Given the description of an element on the screen output the (x, y) to click on. 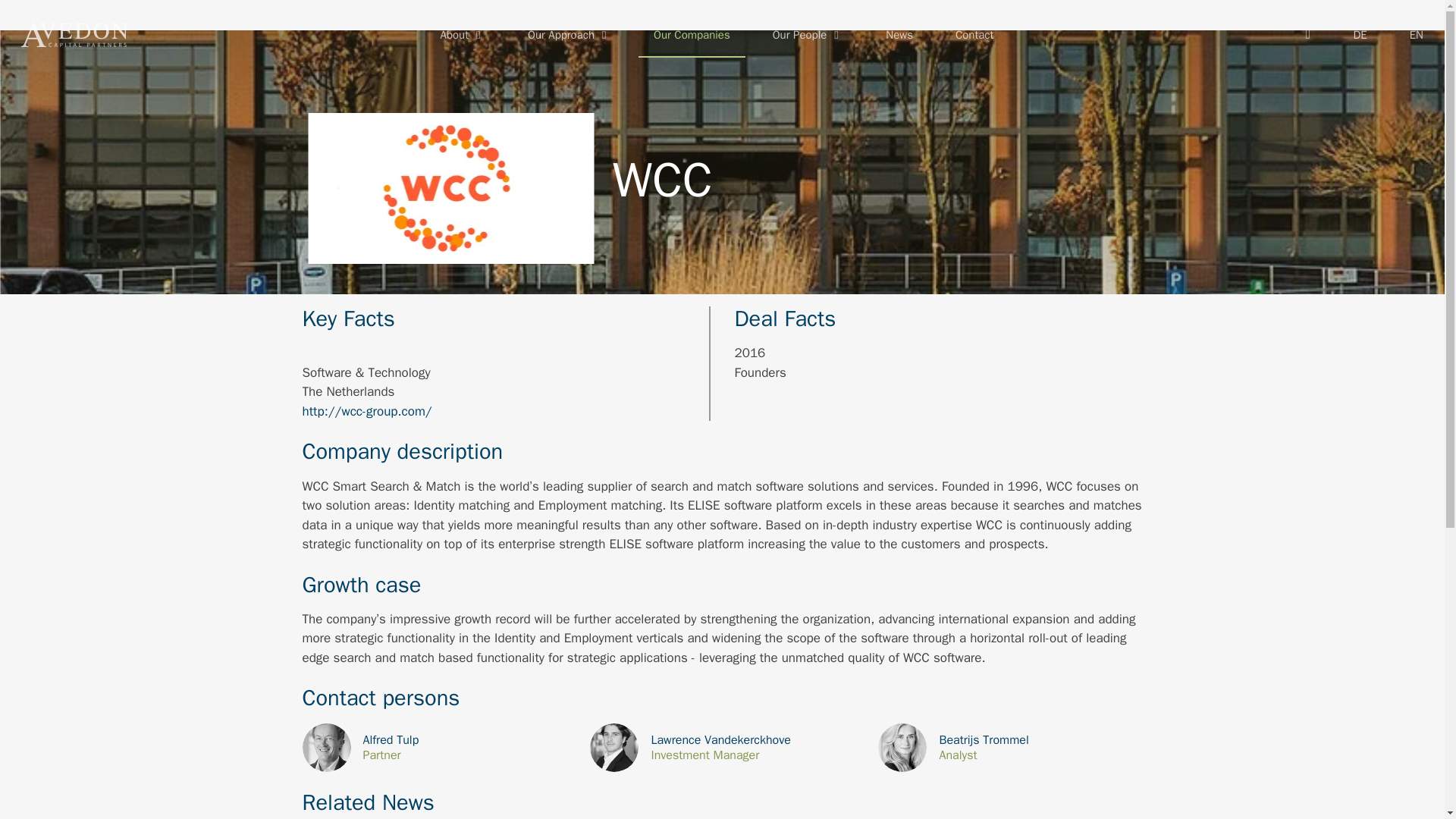
Our Approach (569, 34)
Show details... (433, 747)
Show details... (721, 747)
Our Companies (692, 34)
News (899, 34)
About (462, 34)
Show details... (1009, 747)
DE (1359, 34)
EN (1416, 34)
Startseite (73, 34)
